Given the description of an element on the screen output the (x, y) to click on. 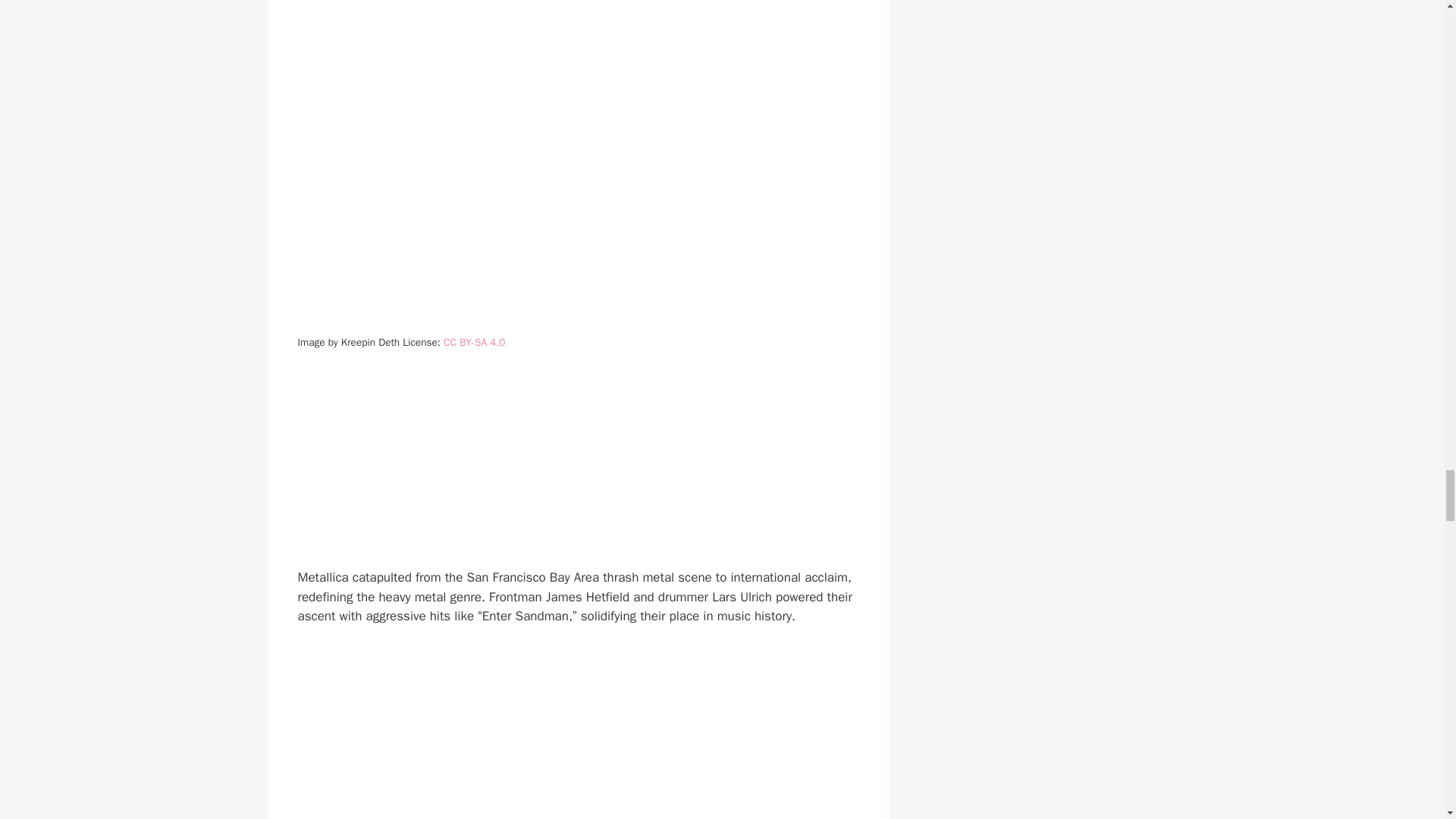
CC BY-SA 4.0 (474, 341)
